Given the description of an element on the screen output the (x, y) to click on. 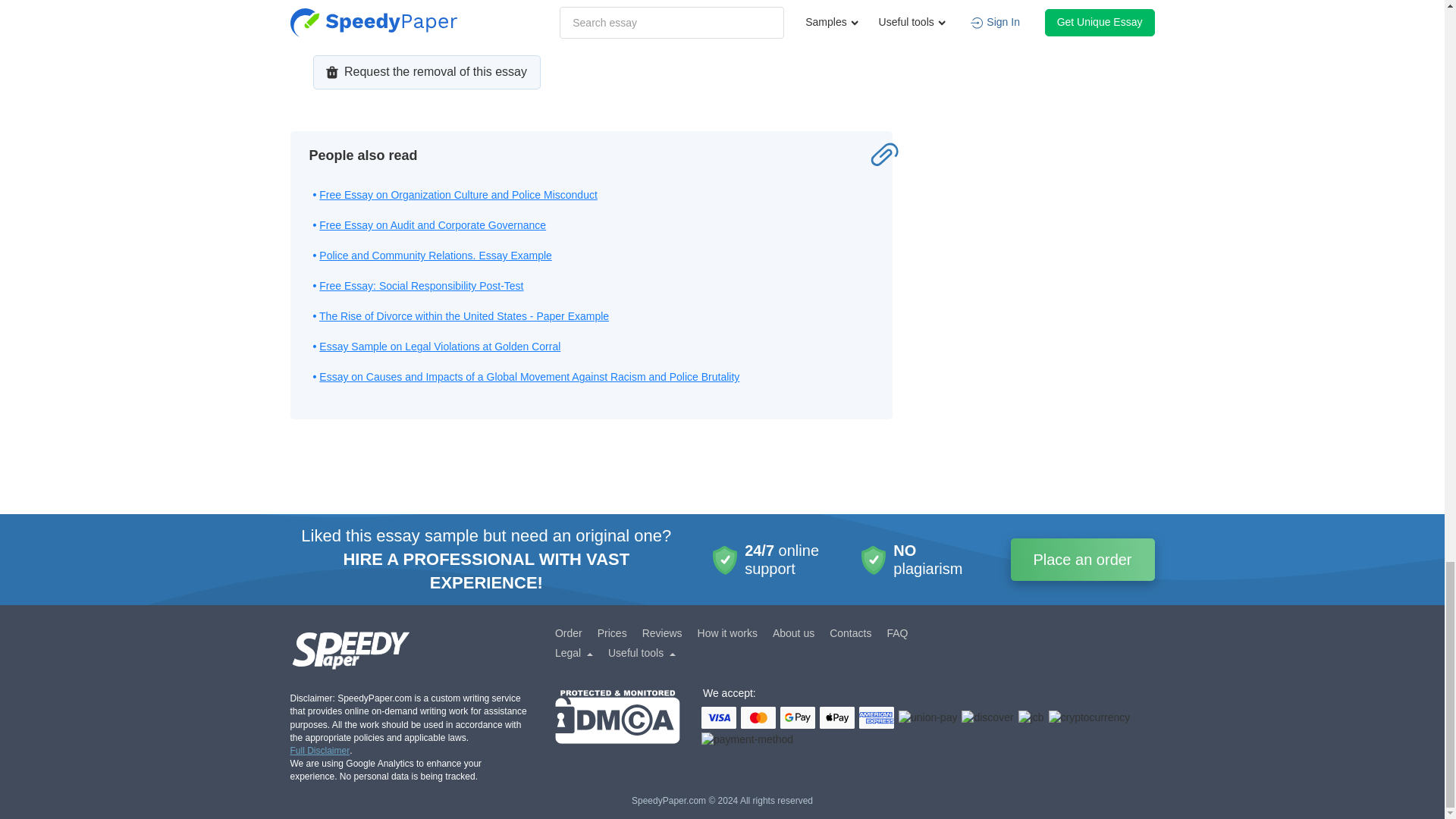
jcb (1030, 717)
apple-pay (836, 717)
payment-method (747, 739)
cryptocurrency (1088, 717)
discover (986, 717)
visa (718, 717)
amex (876, 717)
googlepay (797, 717)
mastercard (758, 717)
DMCA.com Protection Status (616, 719)
union-pay (928, 717)
